Given the description of an element on the screen output the (x, y) to click on. 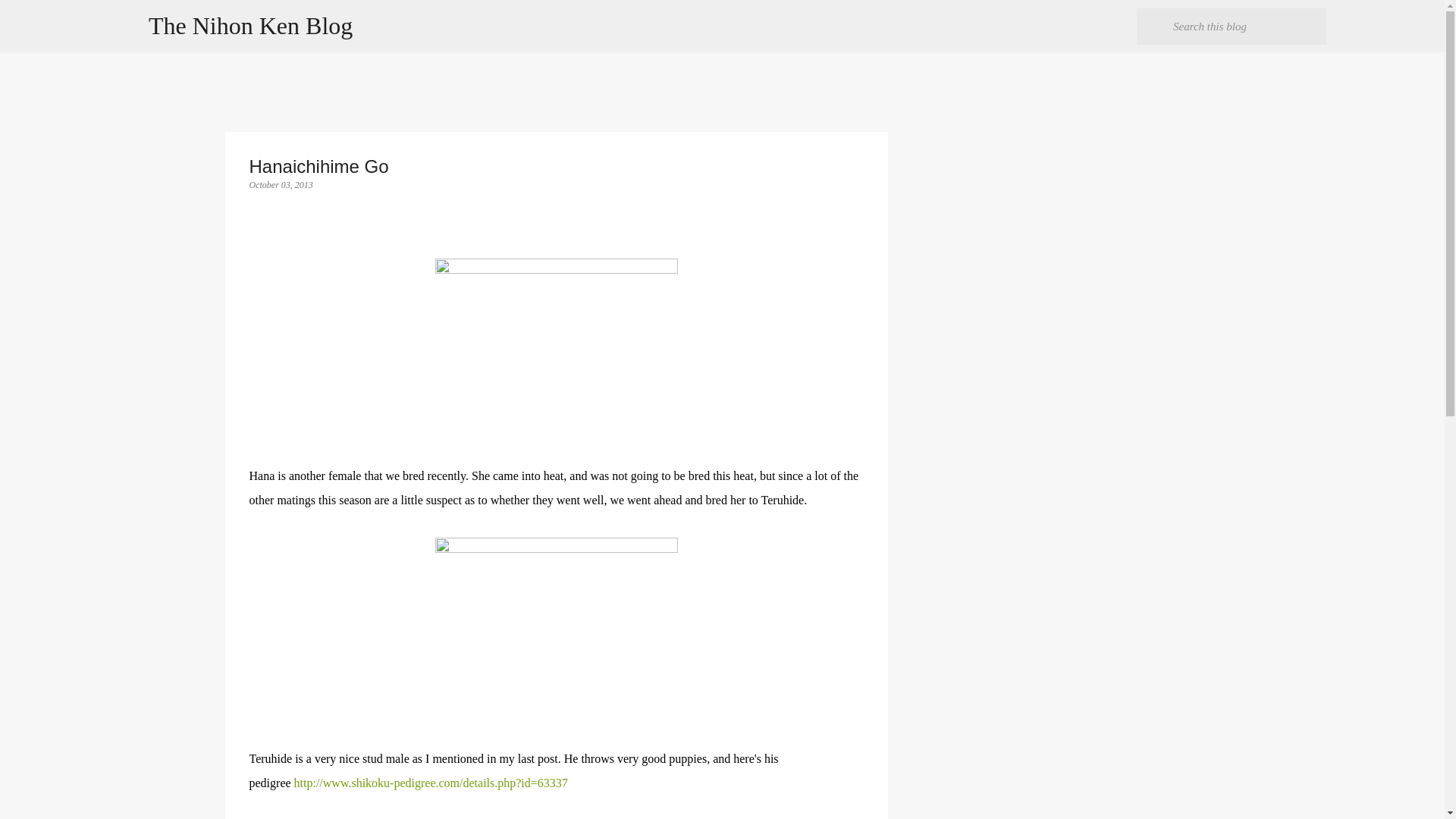
permanent link (280, 184)
The Nihon Ken Blog (250, 25)
October 03, 2013 (280, 184)
